Given the description of an element on the screen output the (x, y) to click on. 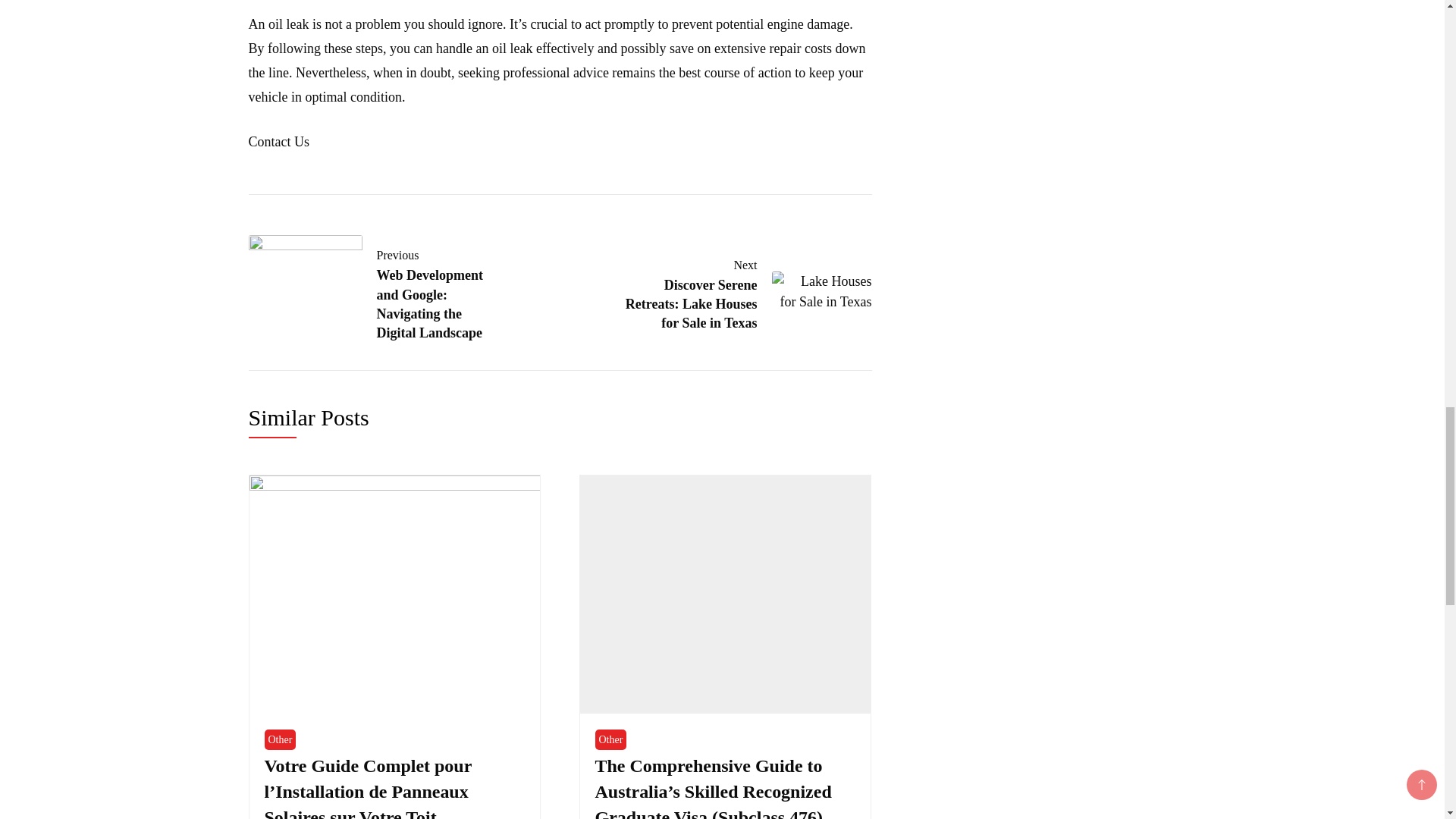
Contact Us (737, 291)
Other (279, 141)
engine damage (279, 739)
